Given the description of an element on the screen output the (x, y) to click on. 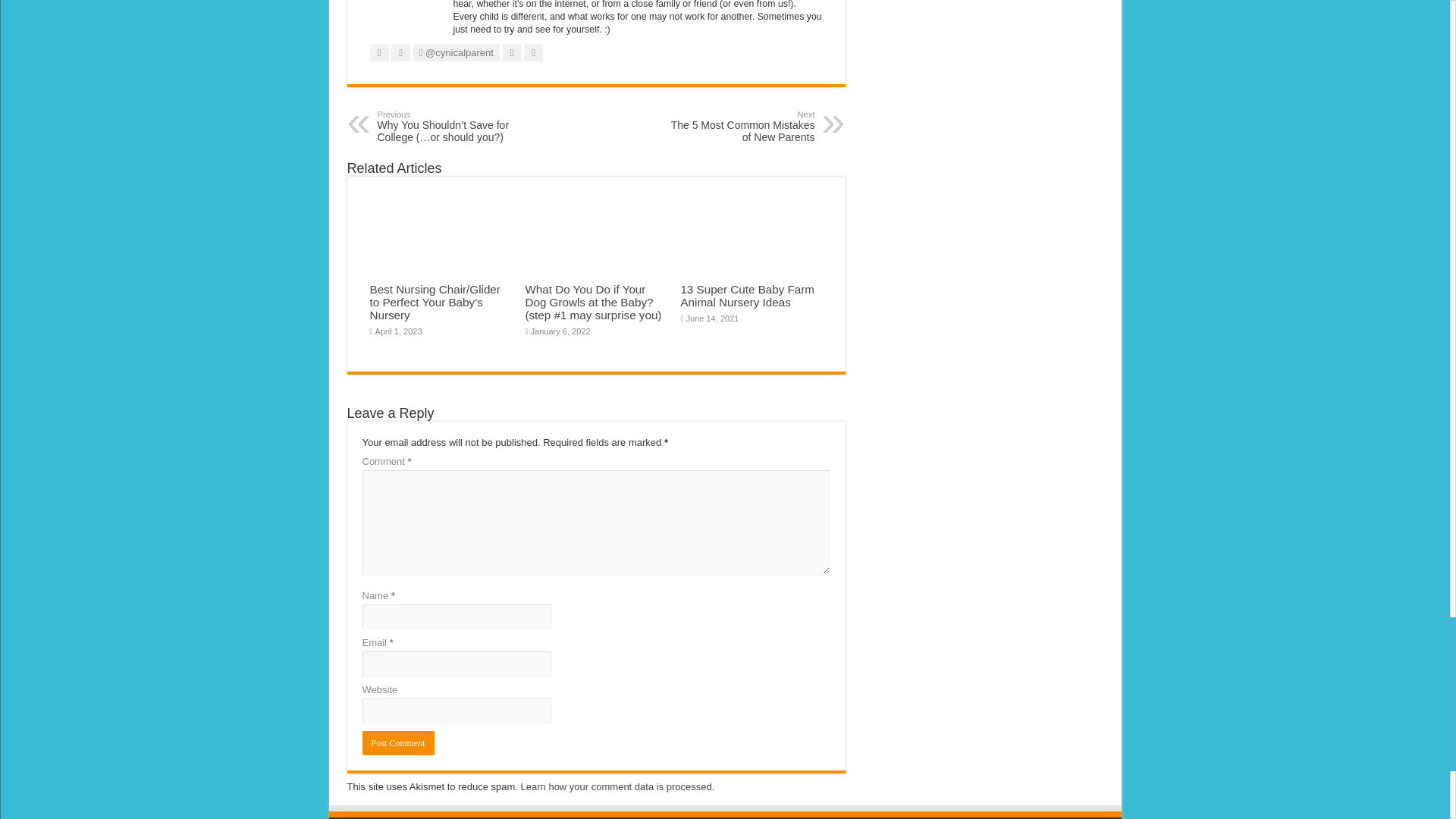
Post Comment (397, 743)
